Given the description of an element on the screen output the (x, y) to click on. 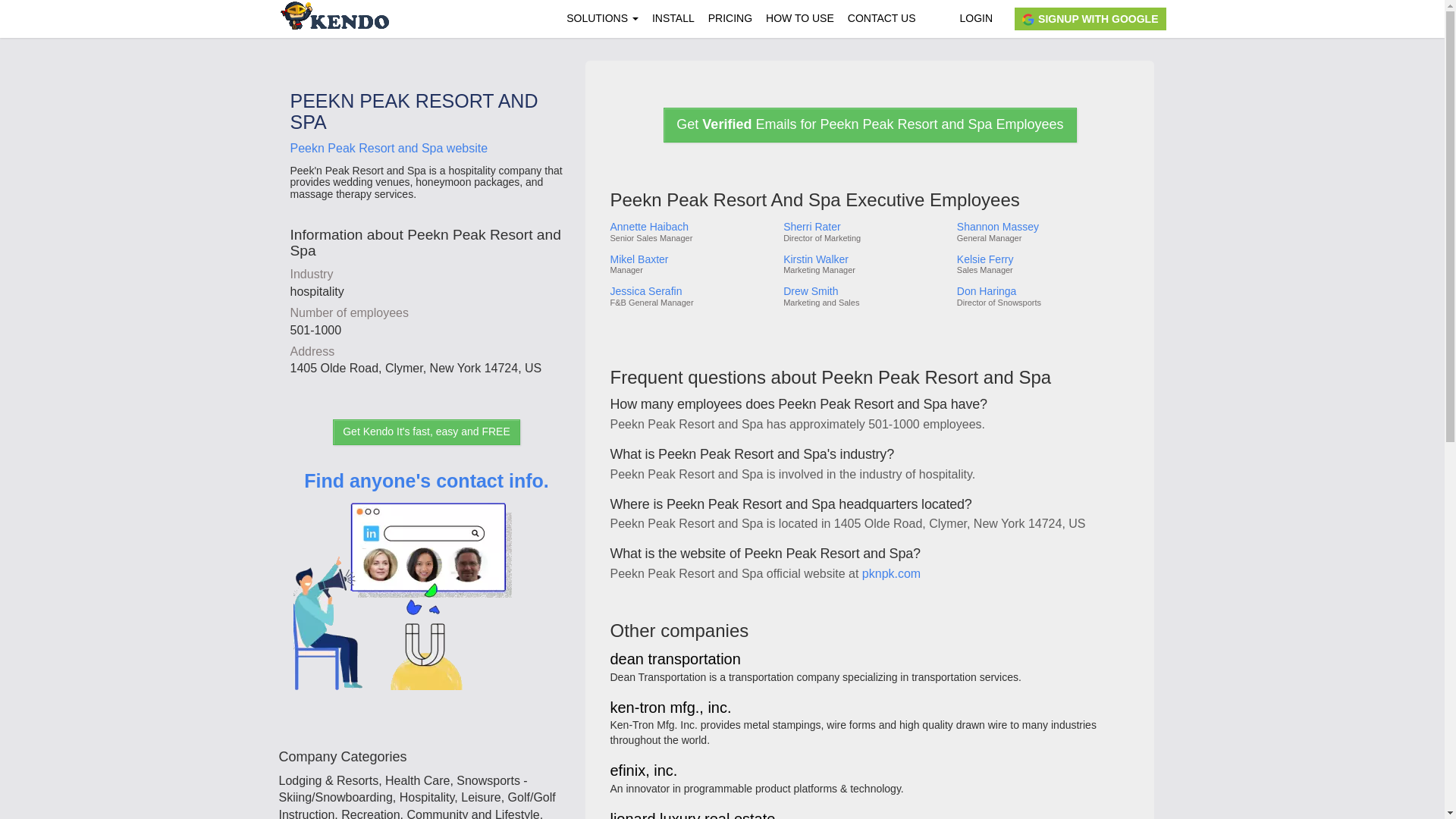
Don Haringa (1041, 291)
pknpk.com (890, 573)
SOLUTIONS (602, 18)
dean transportation (674, 659)
Annette Haibach (690, 226)
CONTACT US (882, 18)
SIGNUP WITH GOOGLE (1090, 18)
efinix, inc. (643, 771)
Peekn Peak Resort and Spa website (388, 147)
LOGIN (975, 18)
